Given the description of an element on the screen output the (x, y) to click on. 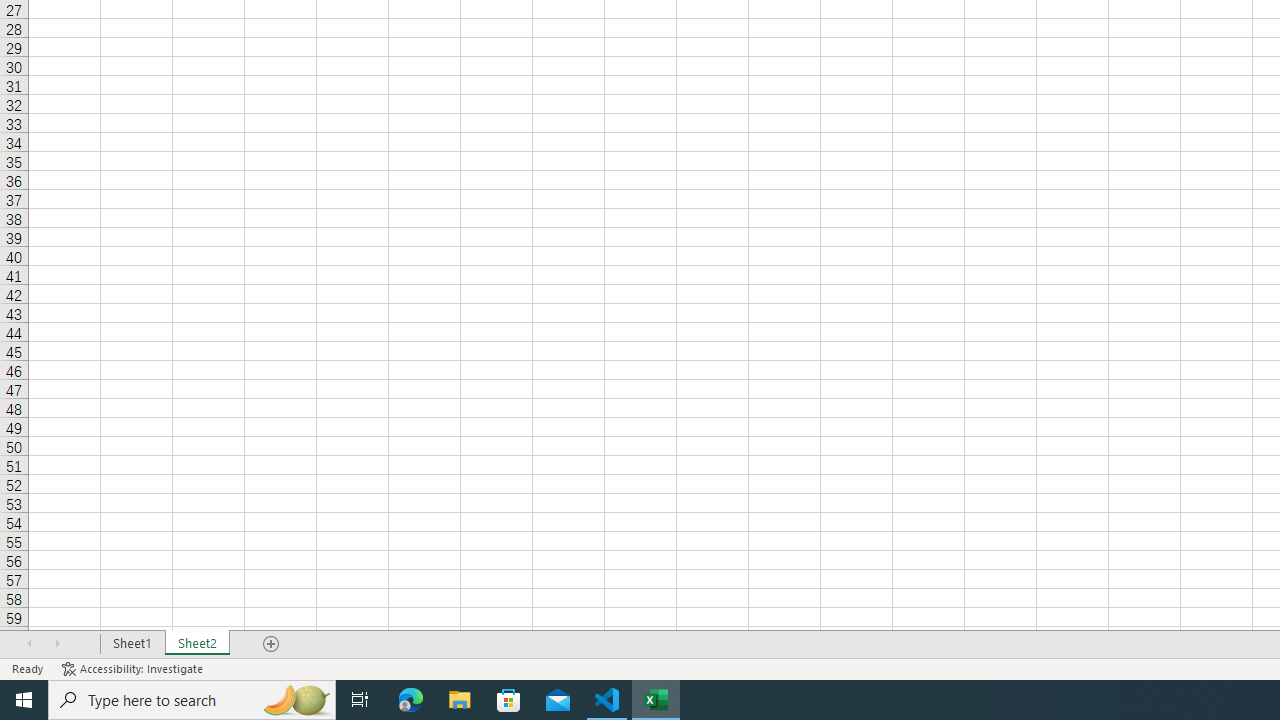
Accessibility Checker Accessibility: Investigate (134, 668)
Sheet2 (197, 644)
